Given the description of an element on the screen output the (x, y) to click on. 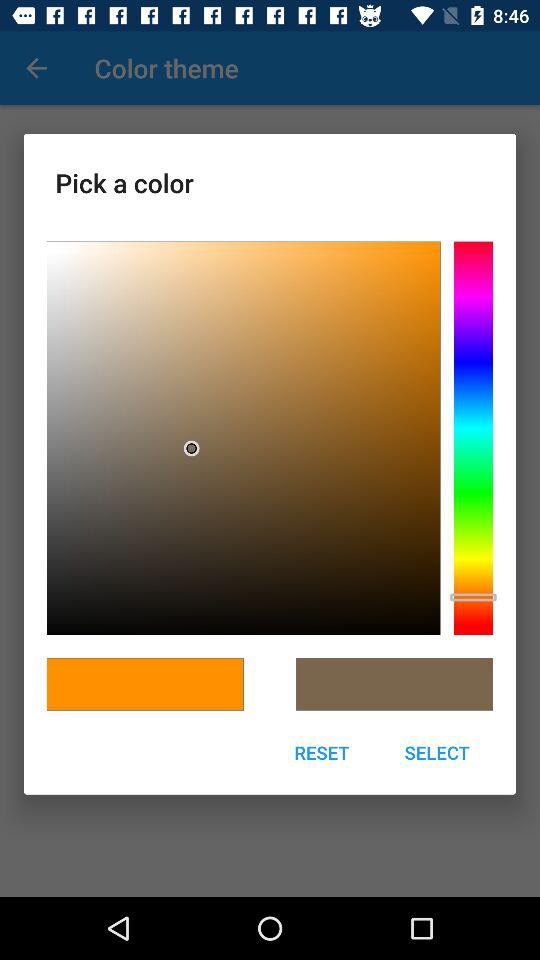
select the icon next to select (321, 752)
